Given the description of an element on the screen output the (x, y) to click on. 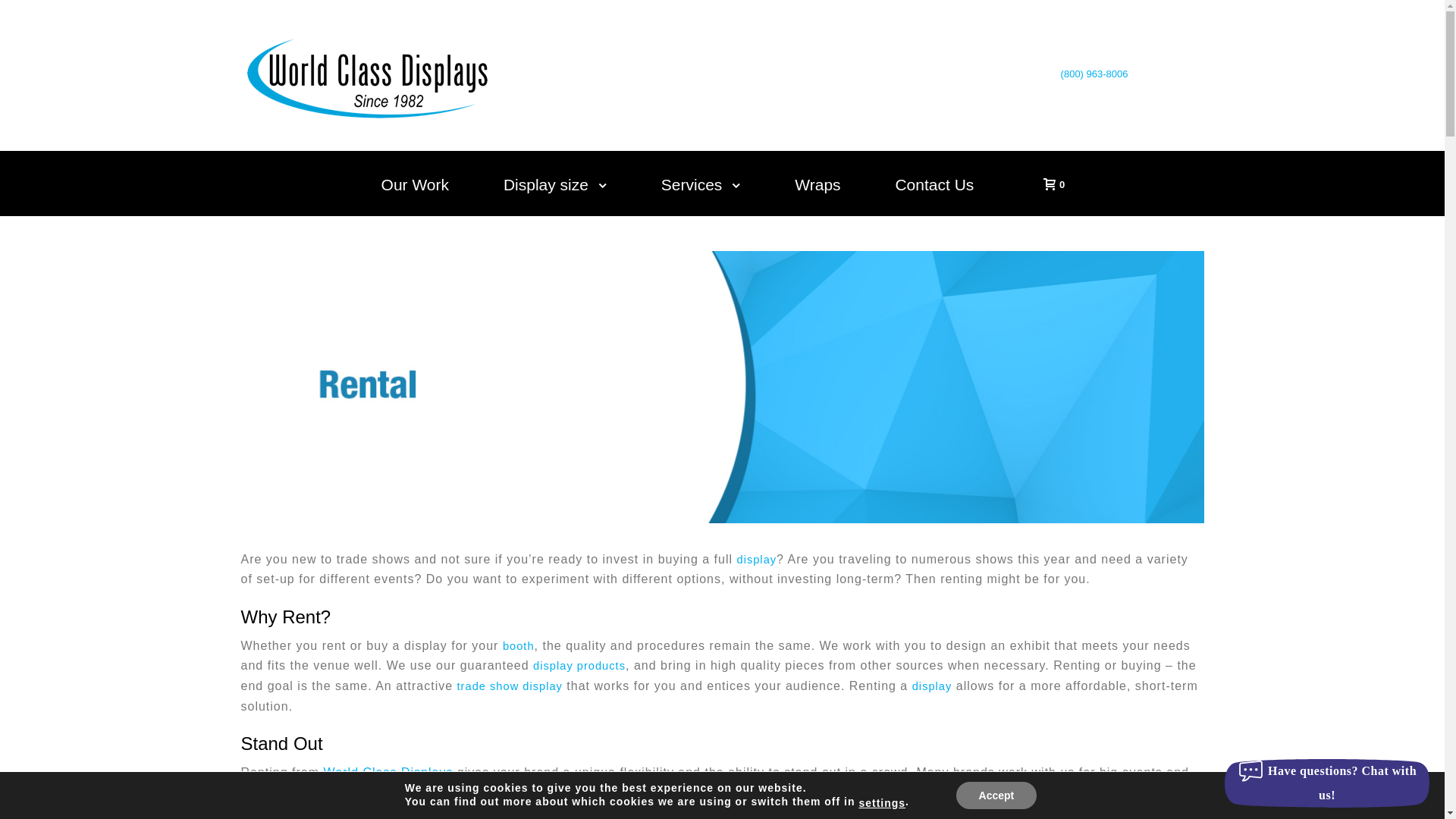
0 (1049, 184)
Contact Us (934, 185)
Display size (555, 185)
Wraps (817, 185)
Services (701, 185)
booth (518, 645)
Our Work (414, 185)
display products (579, 665)
display (756, 558)
Make People Look (365, 75)
